Given the description of an element on the screen output the (x, y) to click on. 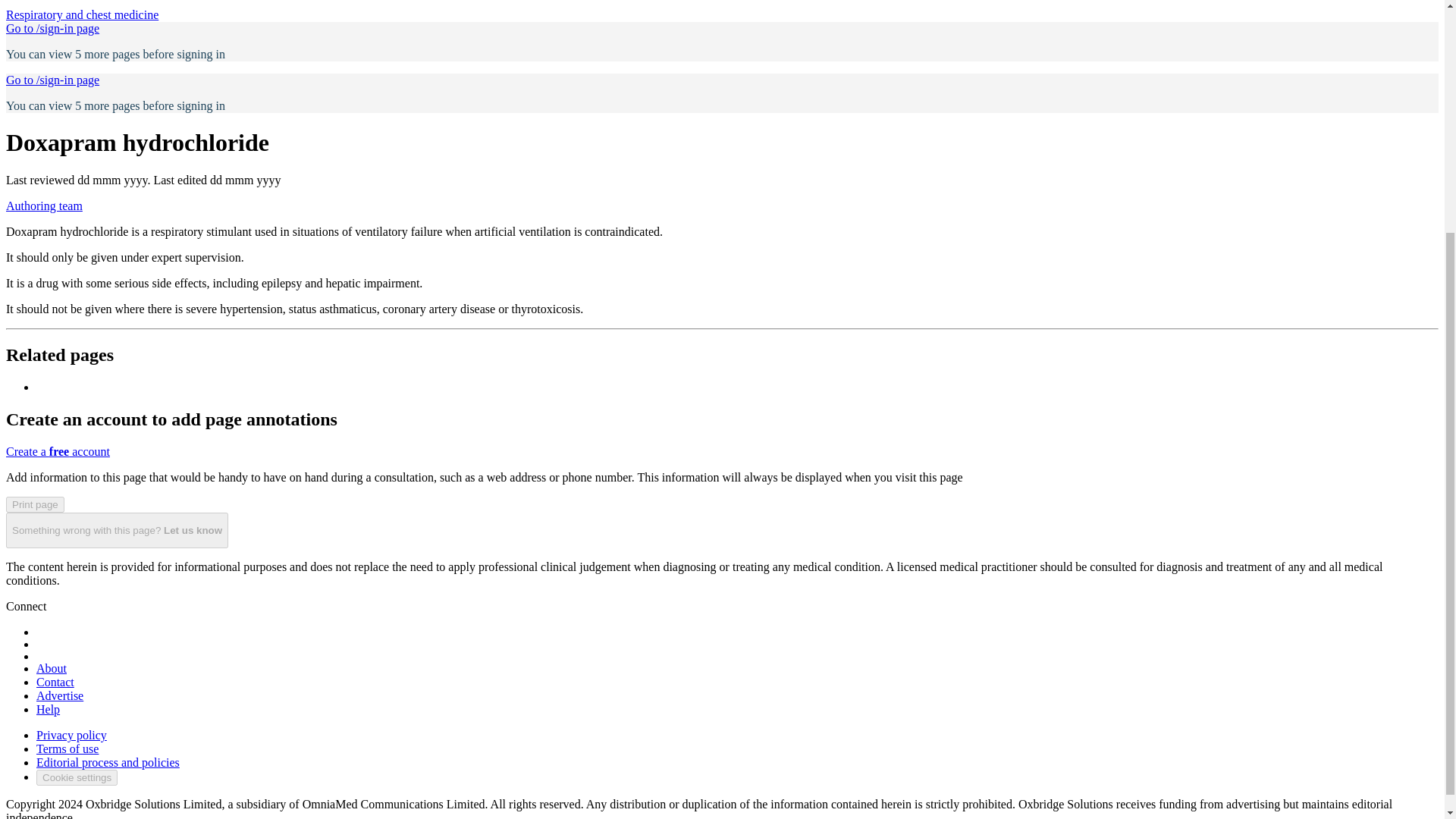
Help (47, 708)
Advertise (59, 695)
Respiratory and chest medicine (81, 14)
Contact (55, 681)
About (51, 667)
Authoring team (43, 205)
Something wrong with this page? Let us know (116, 529)
Terms of use (67, 748)
Cookie settings (76, 777)
Editorial process and policies (107, 762)
Print page (34, 504)
Privacy policy (71, 735)
